Given the description of an element on the screen output the (x, y) to click on. 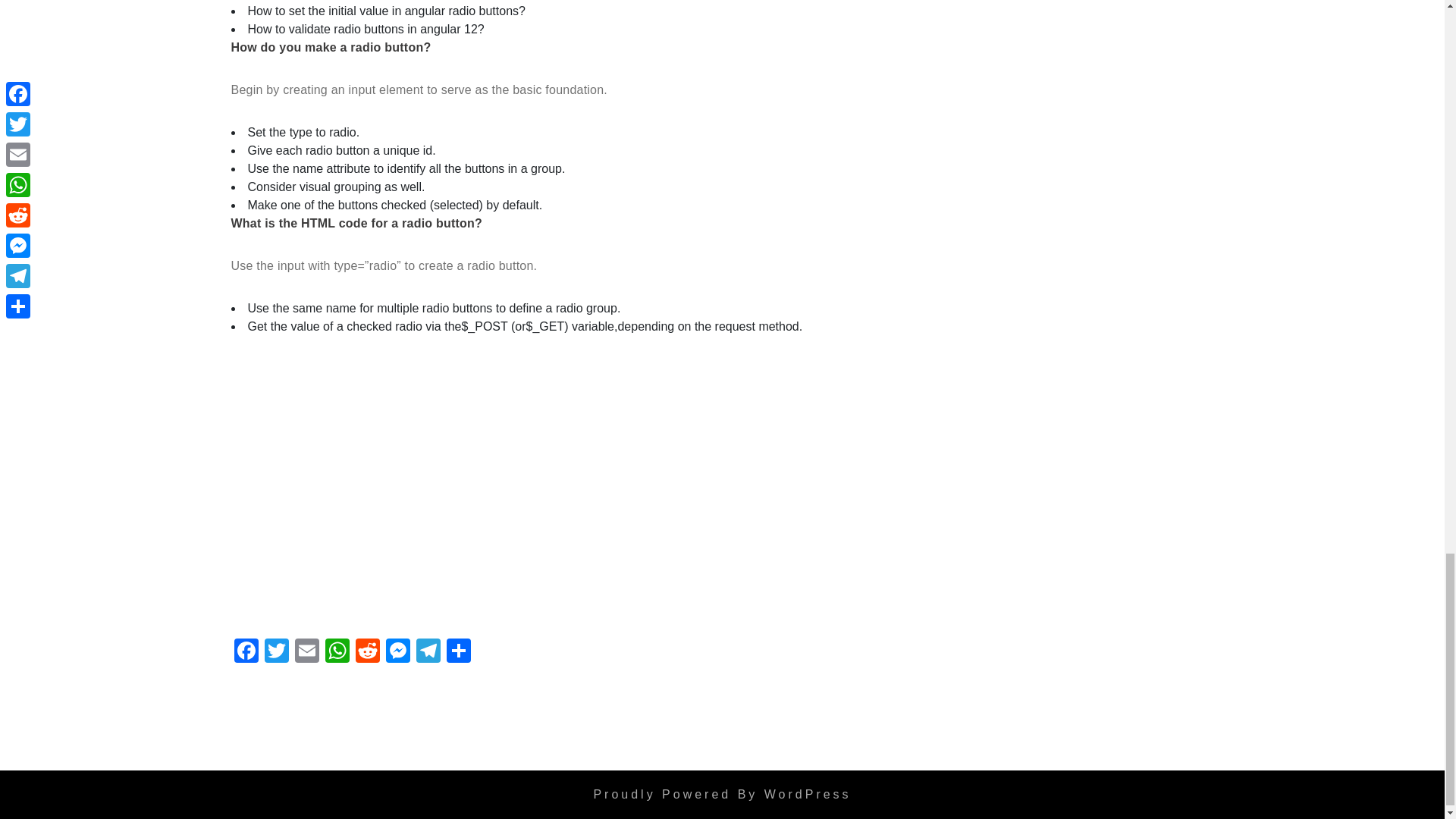
Reddit (366, 652)
WhatsApp (336, 652)
Email (306, 652)
Twitter (275, 652)
Facebook (245, 652)
Twitter (275, 652)
Messenger (396, 652)
Facebook (245, 652)
Telegram (427, 652)
Email (306, 652)
